Given the description of an element on the screen output the (x, y) to click on. 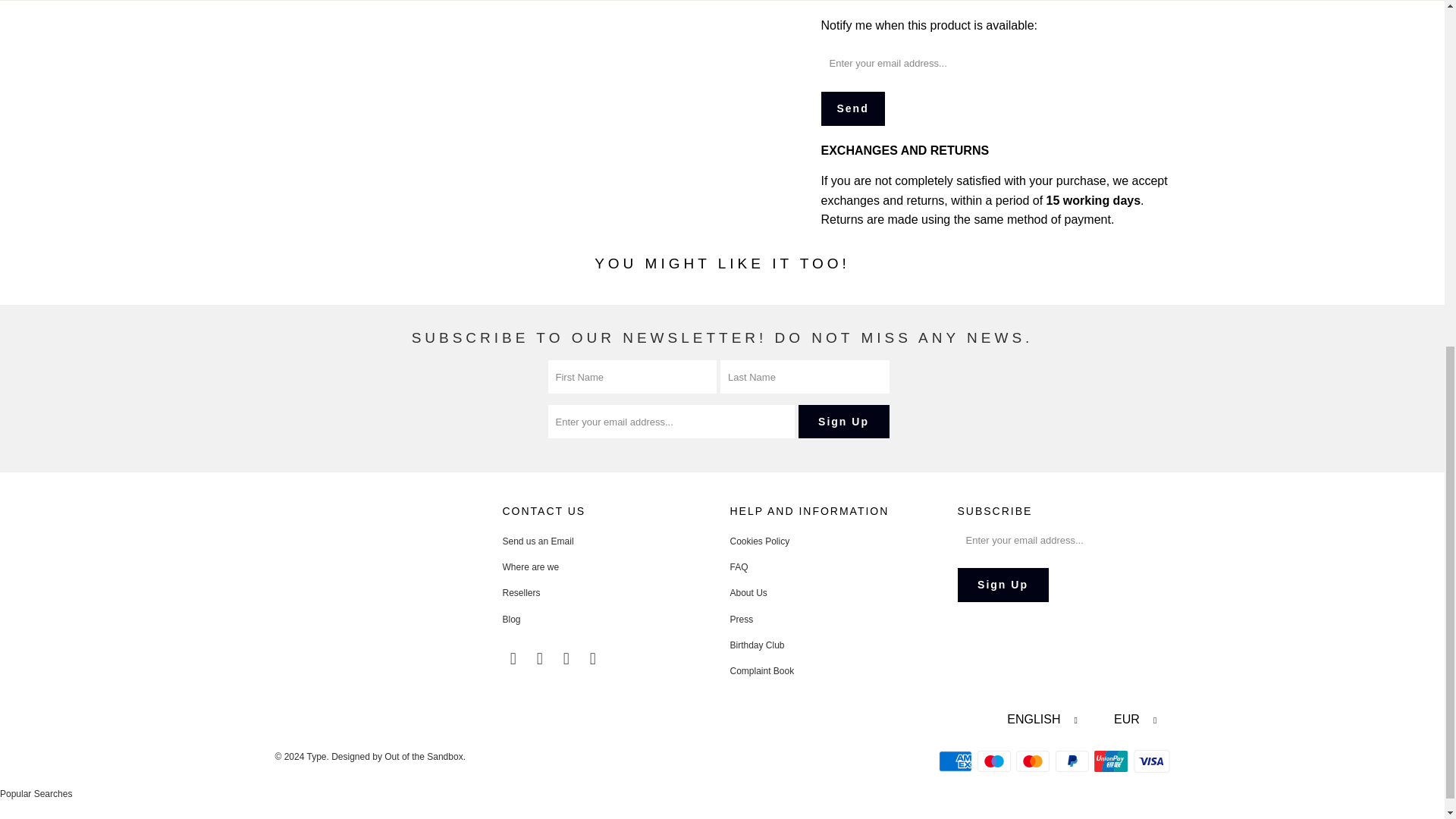
Union Pay (1112, 761)
Visa (1150, 761)
Mastercard (1034, 761)
Send (852, 108)
Sign Up (842, 421)
Type on Instagram (567, 659)
Email Type (593, 659)
Type on Pinterest (540, 659)
American Express (957, 761)
Type on Facebook (513, 659)
